Given the description of an element on the screen output the (x, y) to click on. 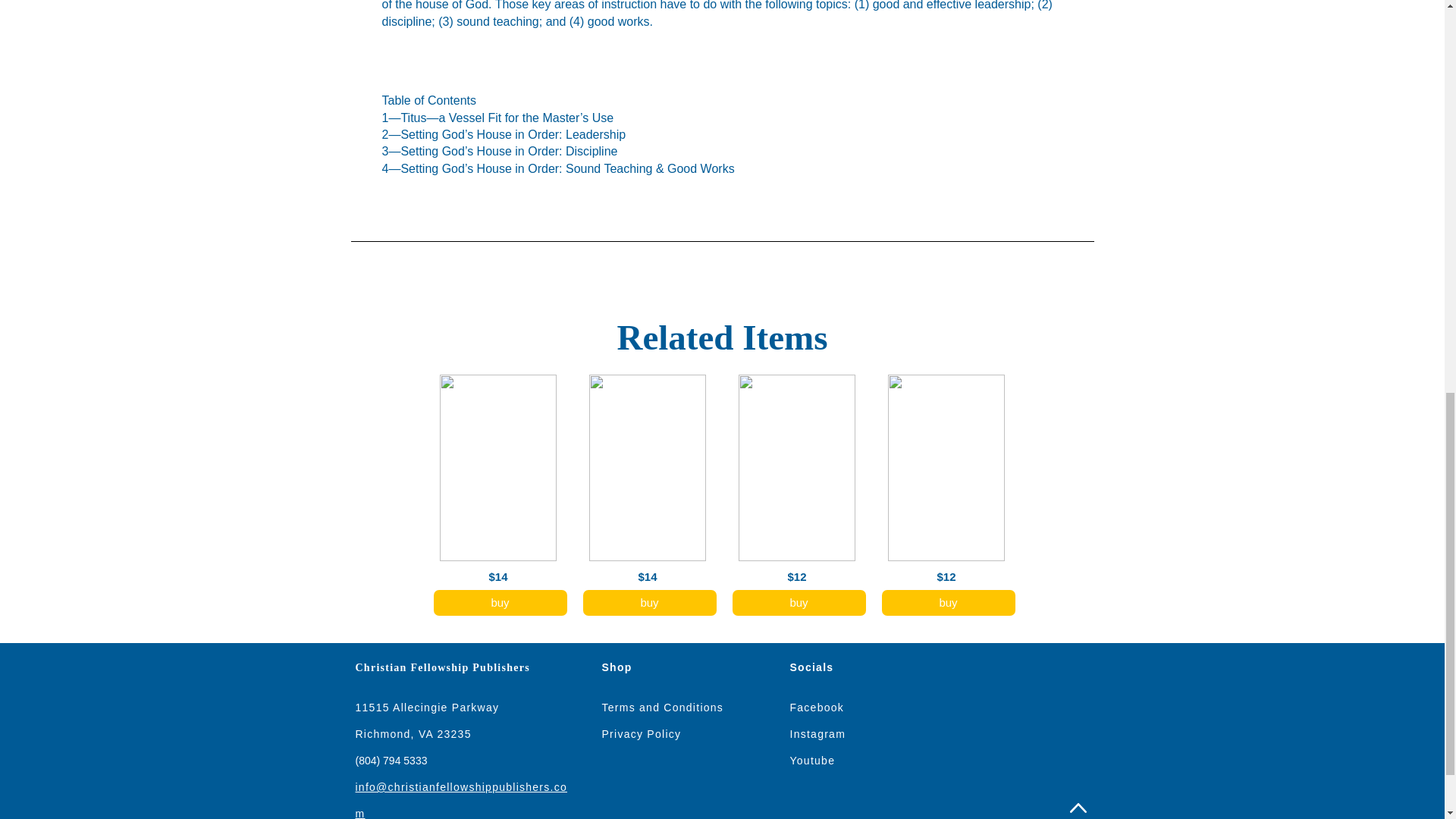
Terms and Conditions (662, 707)
Youtube (812, 760)
Privacy Policy (641, 734)
Facebook (817, 707)
Instagram (817, 734)
